Given the description of an element on the screen output the (x, y) to click on. 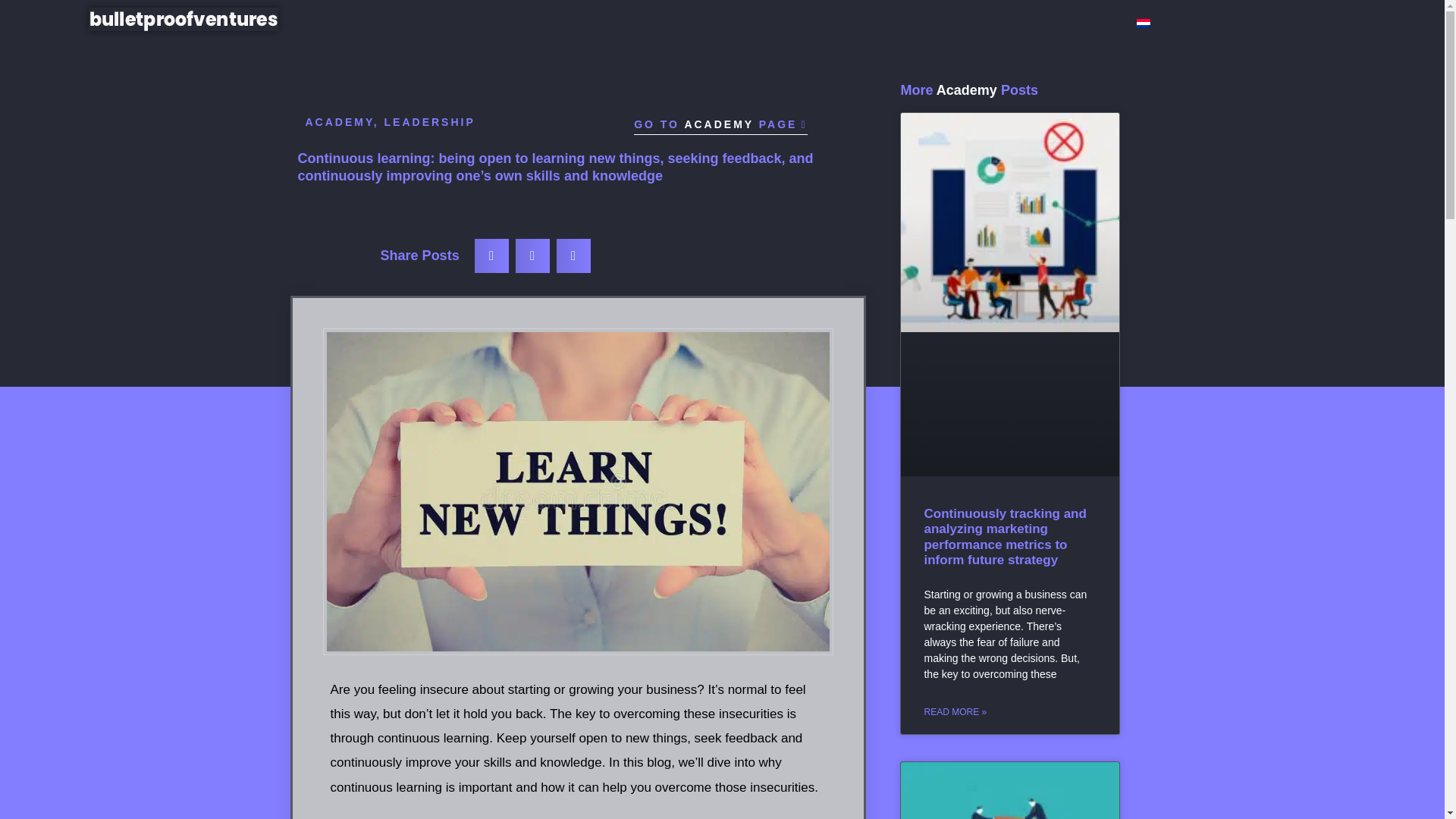
ACADEMY (338, 121)
LEADERSHIP (430, 121)
GO TO ACADEMY PAGE (719, 126)
